Given the description of an element on the screen output the (x, y) to click on. 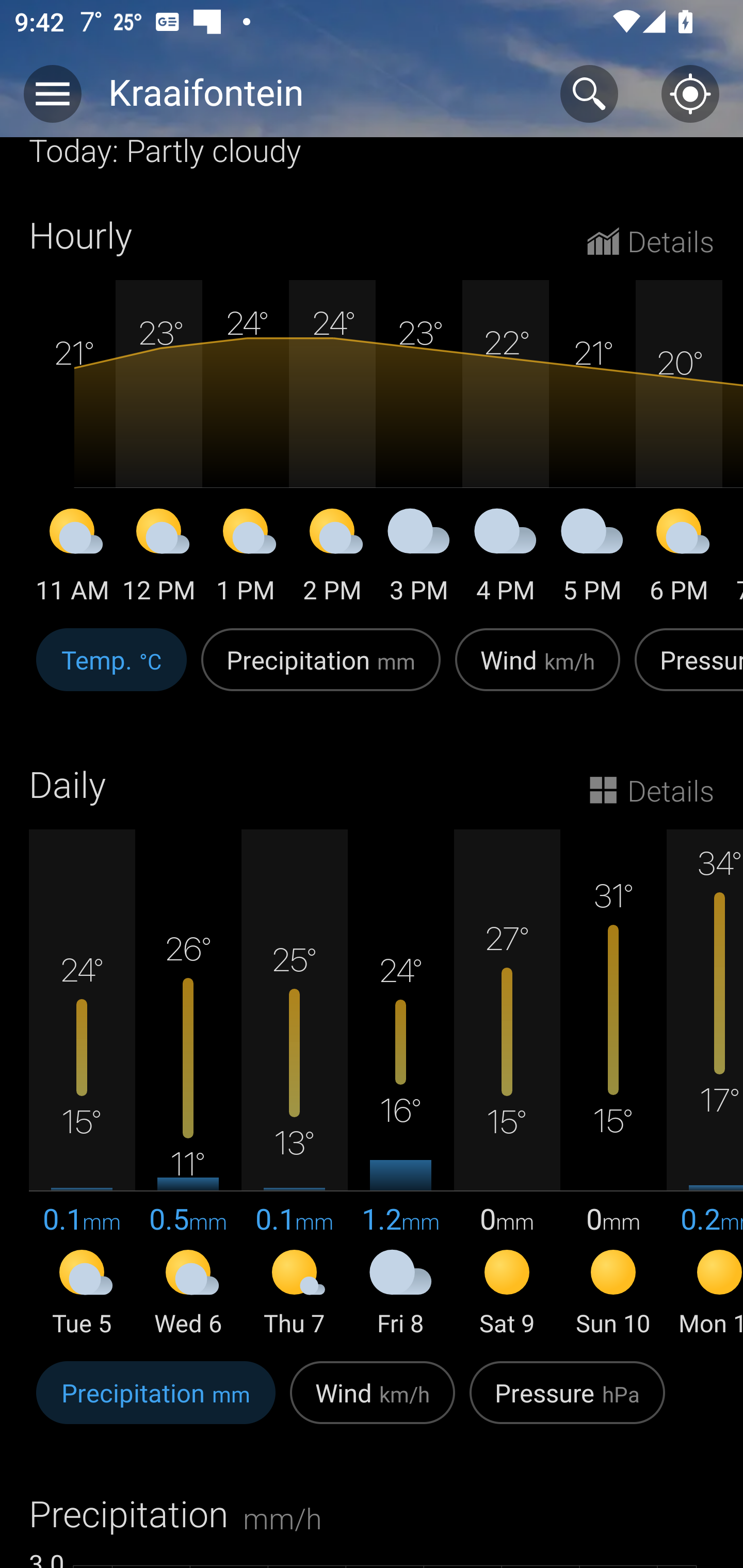
11 AM (71, 558)
12 PM (158, 558)
1 PM (245, 558)
2 PM (332, 558)
3 PM (418, 558)
4 PM (505, 558)
5 PM (592, 558)
6 PM (679, 558)
Temp. °C (110, 669)
Precipitation mm (320, 669)
Wind km/h (537, 669)
Pressure (685, 669)
24° 15° 0.1 mm Tue 5 (81, 1084)
26° 11° 0.5 mm Wed 6 (188, 1084)
25° 13° 0.1 mm Thu 7 (294, 1084)
24° 16° 1.2 mm Fri 8 (400, 1084)
27° 15° 0 mm Sat 9 (506, 1084)
31° 15° 0 mm Sun 10 (613, 1084)
34° 17° 0.2 mm Mon 11 (704, 1084)
Precipitation mm (155, 1403)
Wind km/h (372, 1403)
Pressure hPa (567, 1403)
